Given the description of an element on the screen output the (x, y) to click on. 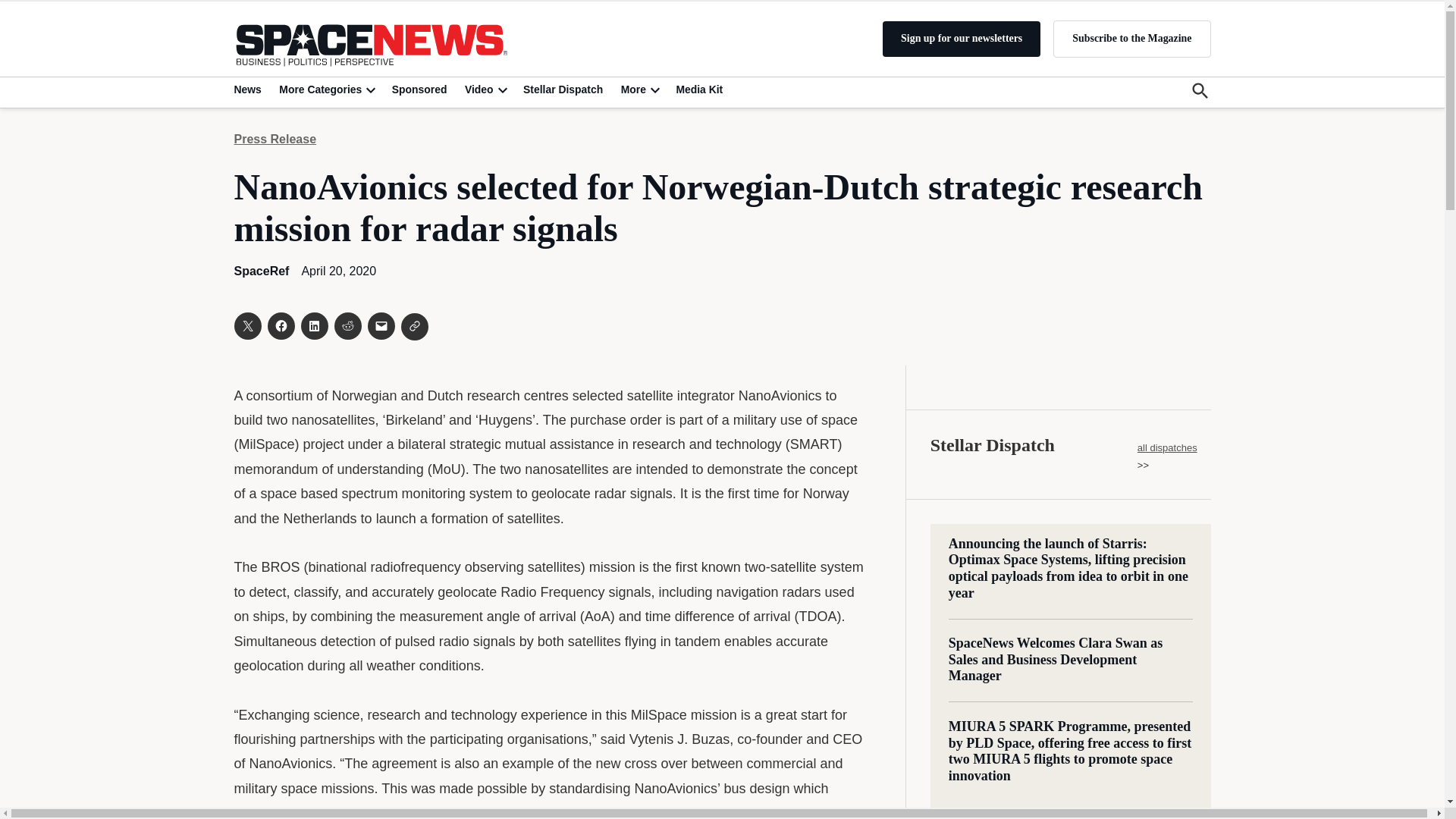
Click to share on Clipboard (414, 326)
Subscribe to the Magazine (1130, 38)
Click to email a link to a friend (380, 325)
Click to share on X (246, 325)
Click to share on Facebook (280, 325)
Sign up for our newsletters (961, 38)
Click to share on LinkedIn (313, 325)
Click to share on Reddit (347, 325)
